Given the description of an element on the screen output the (x, y) to click on. 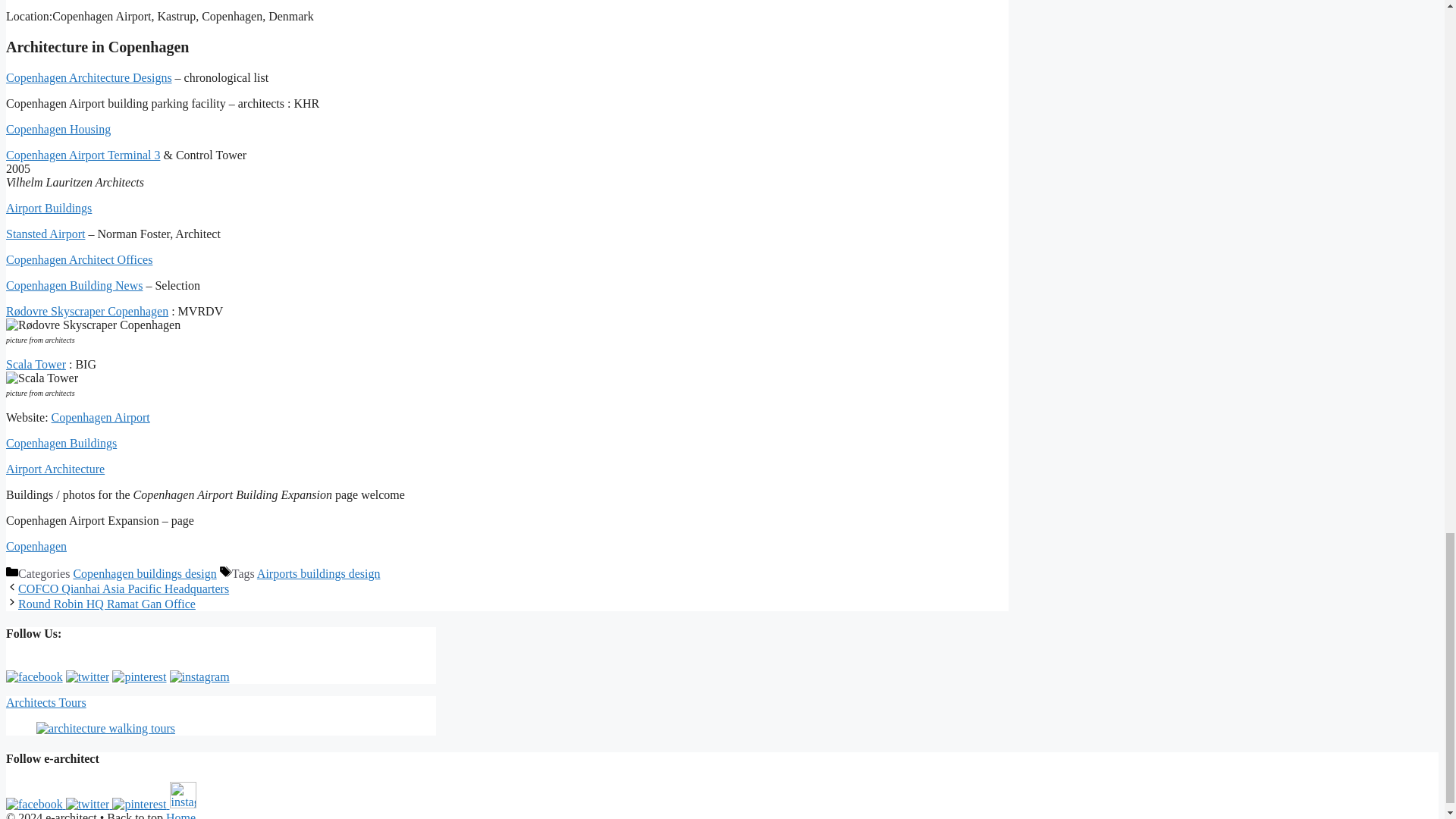
Airport Buildings (48, 207)
Copenhagen Airport Terminal 3 (82, 154)
Copenhagen Housing (57, 128)
instagram (183, 795)
pinterest (138, 676)
Copenhagen Architecture Designs (88, 77)
facebook (33, 676)
facebook (33, 804)
twitter (87, 676)
linkedin (138, 804)
